Given the description of an element on the screen output the (x, y) to click on. 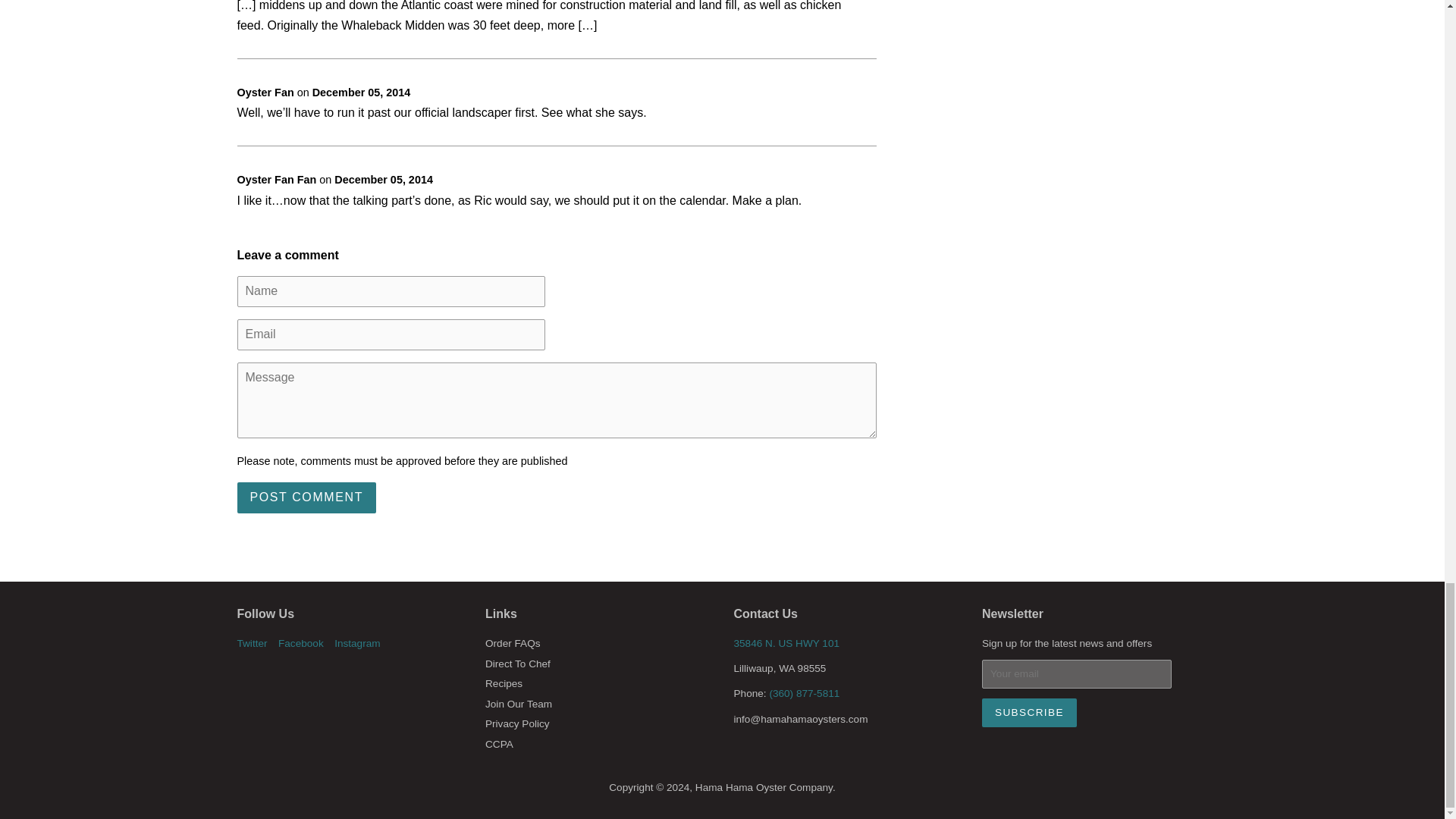
Subscribe (1029, 712)
Post comment (305, 497)
